Given the description of an element on the screen output the (x, y) to click on. 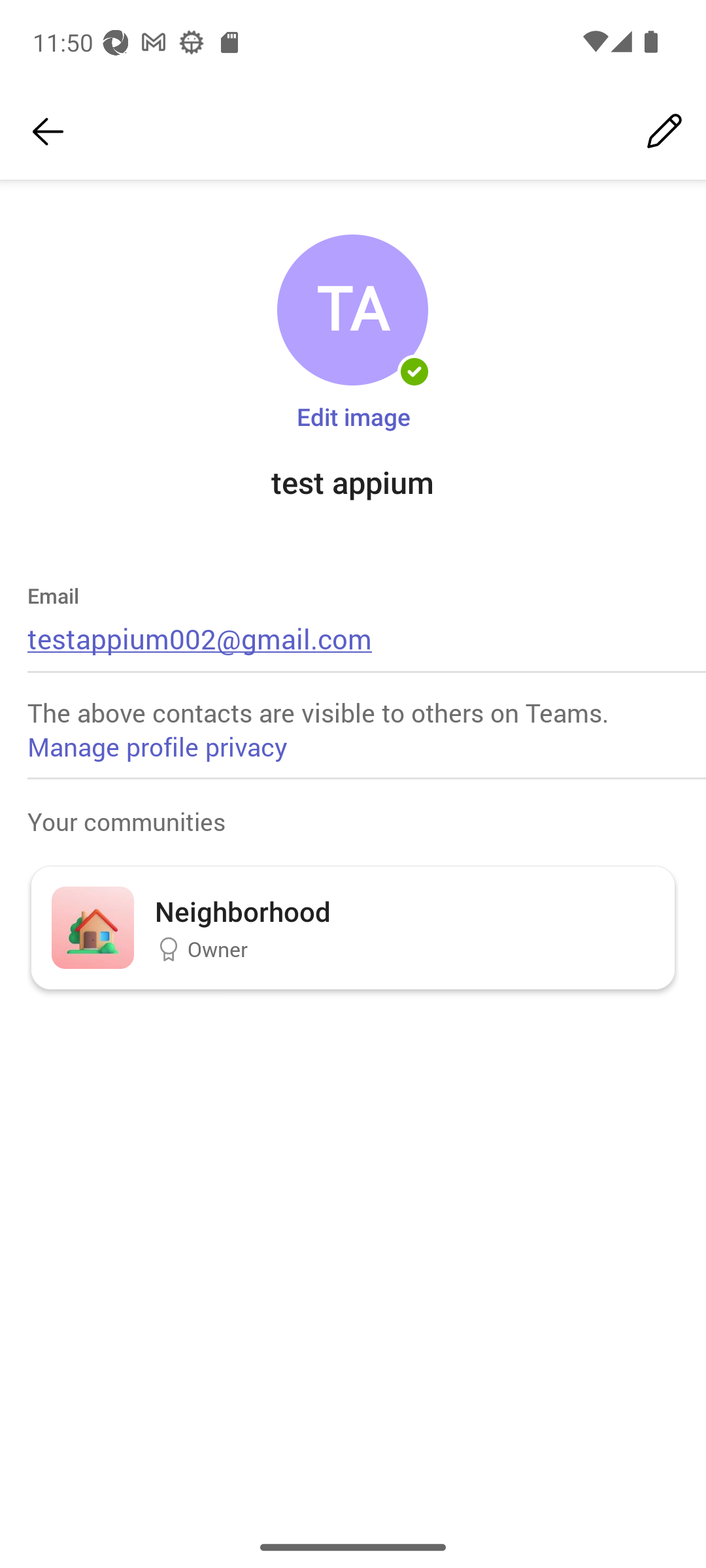
Back (48, 131)
Edit display name (664, 131)
test appium profile picture, Status: Available (352, 310)
Edit image (352, 415)
testappium002@gmail.com (199, 637)
